Given the description of an element on the screen output the (x, y) to click on. 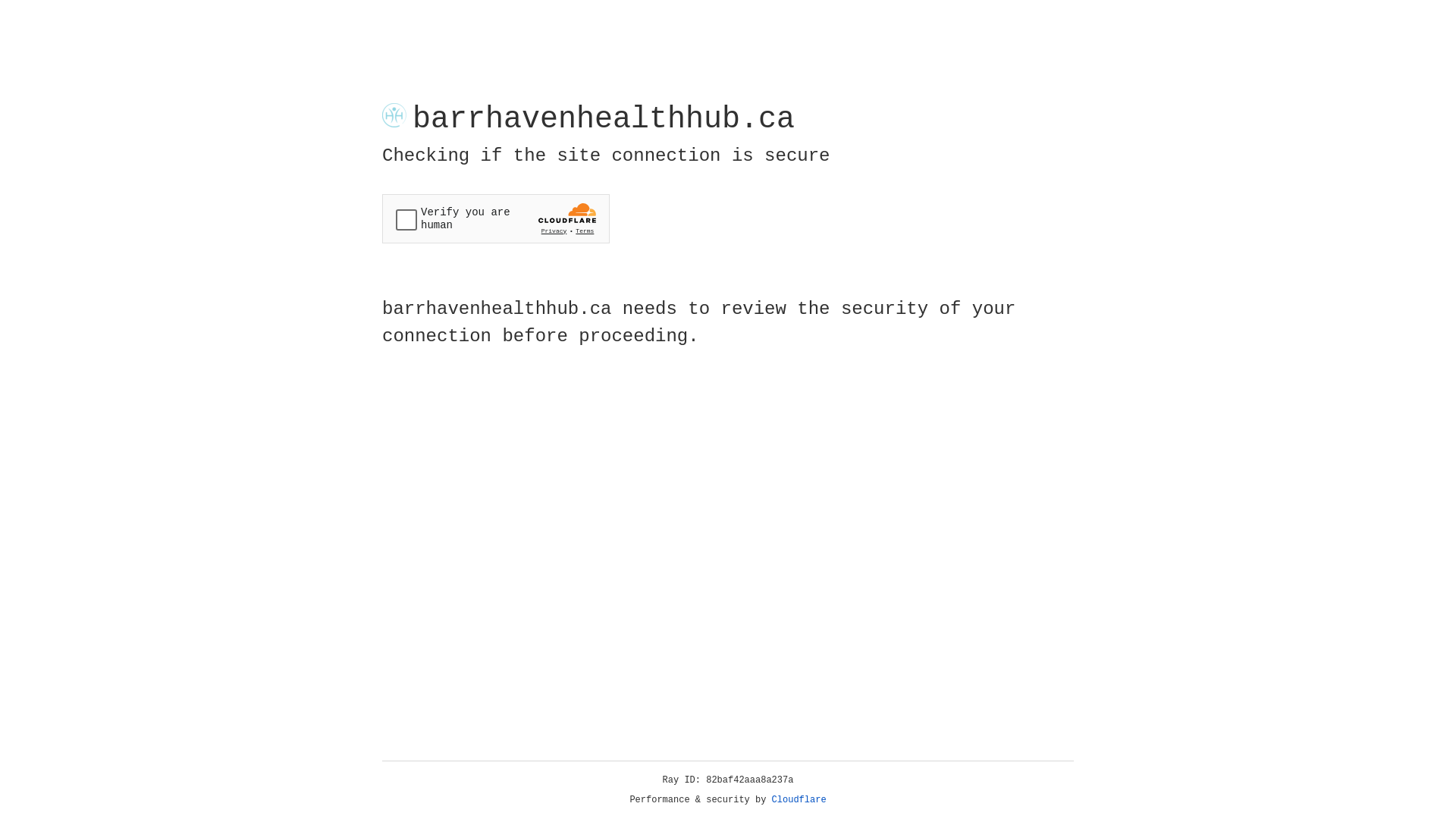
Cloudflare Element type: text (798, 799)
Widget containing a Cloudflare security challenge Element type: hover (495, 218)
